Given the description of an element on the screen output the (x, y) to click on. 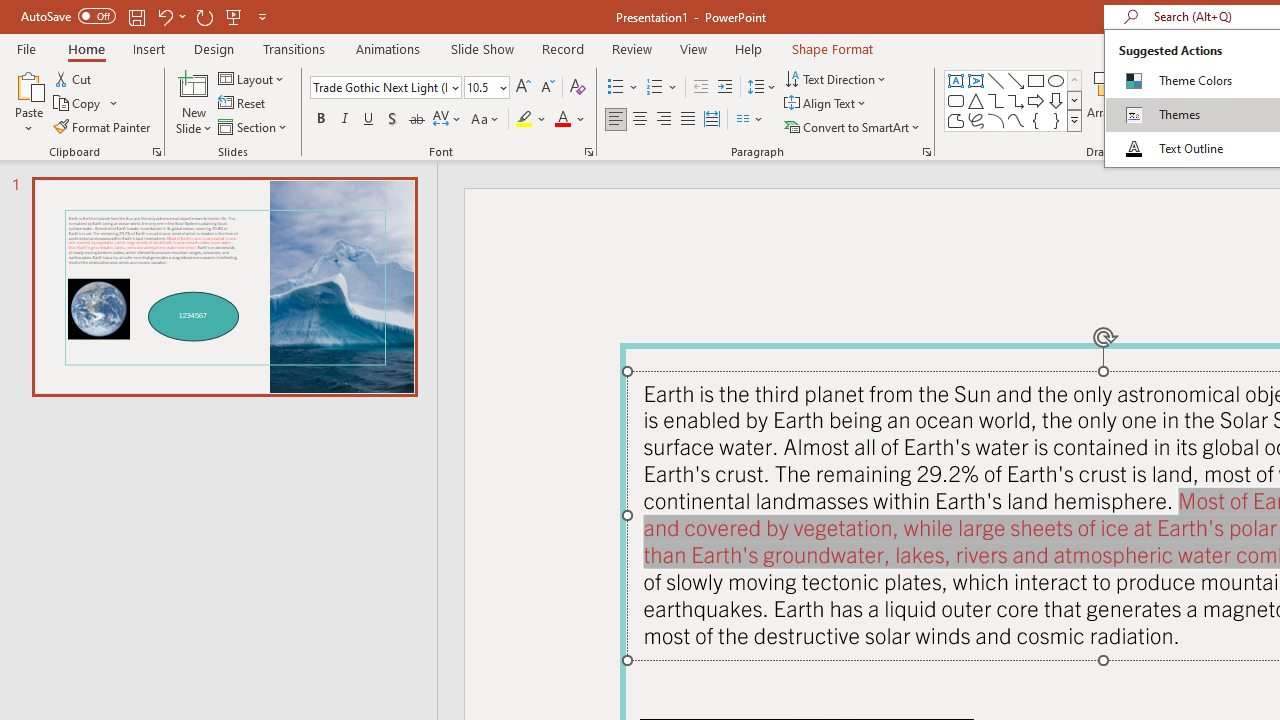
Align Right (663, 119)
Columns (750, 119)
Change Case (486, 119)
Italic (344, 119)
